Given the description of an element on the screen output the (x, y) to click on. 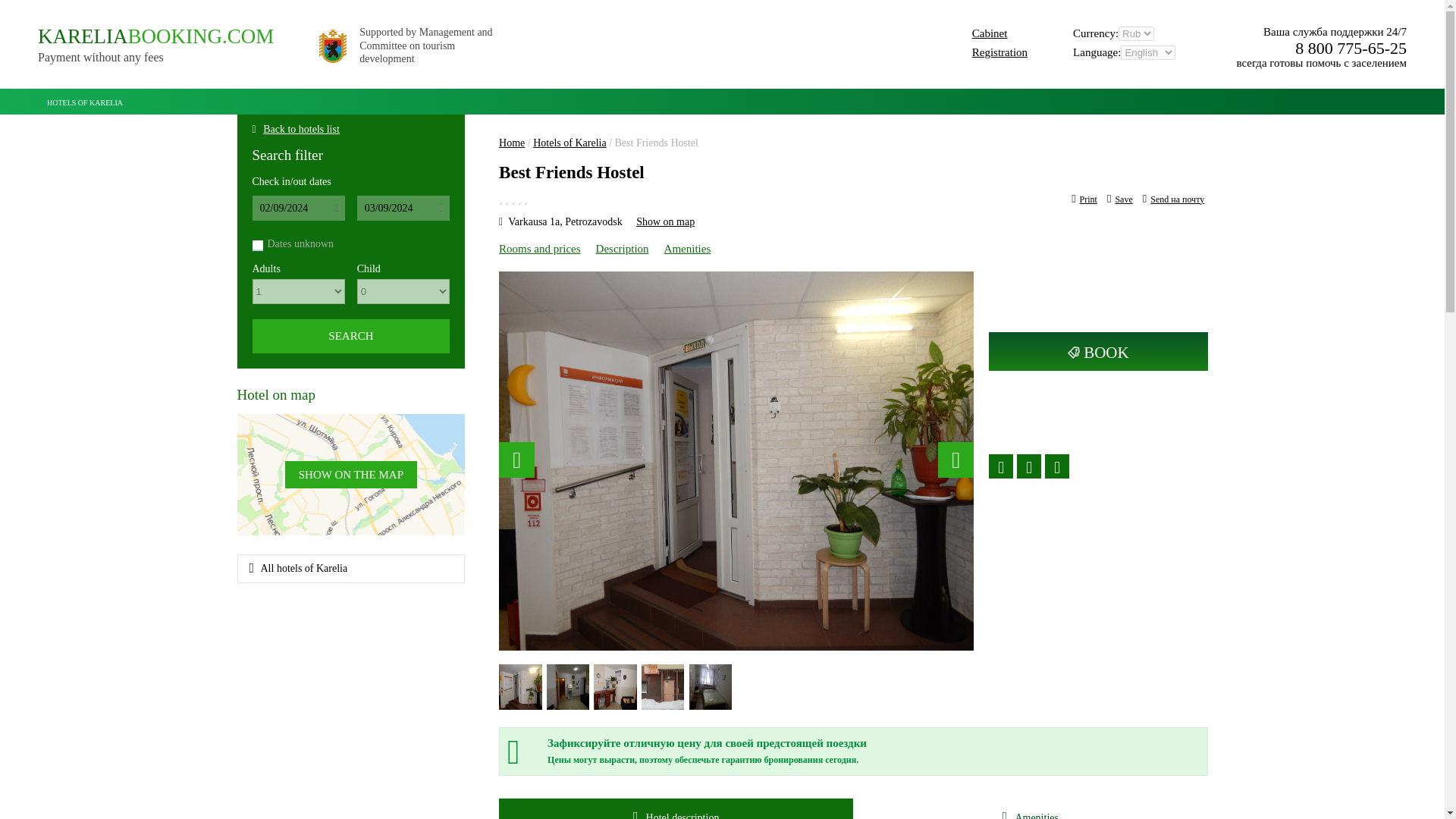
SHOW ON THE MAP (349, 474)
Search (350, 335)
Print (155, 44)
HOTELS OF KARELIA (1084, 199)
Hotels of Karelia (84, 100)
Registration (568, 142)
Back to hotels list (999, 51)
All hotels of Karelia (301, 128)
Description (351, 568)
